Given the description of an element on the screen output the (x, y) to click on. 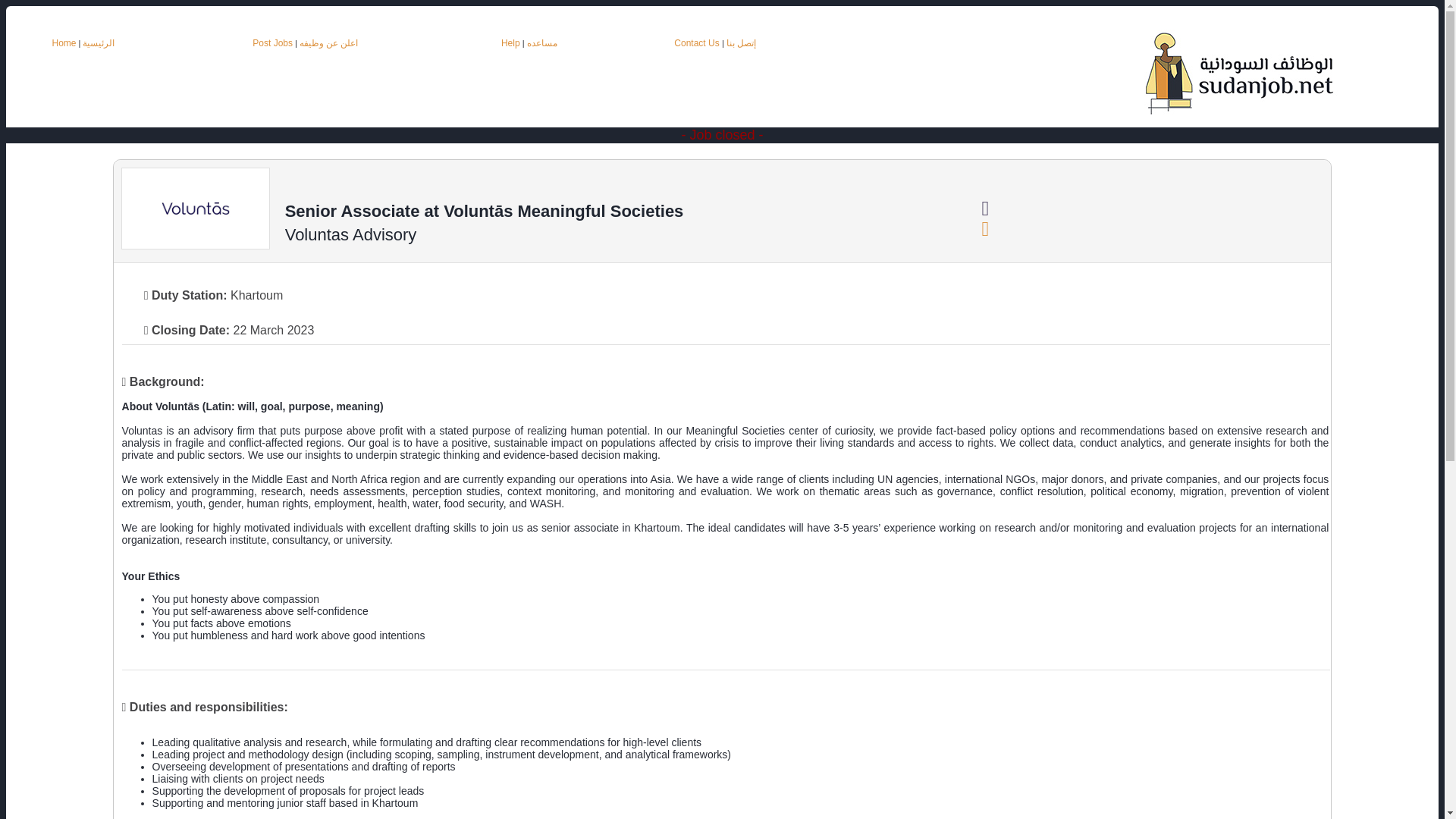
Help (509, 42)
Contact Us (698, 42)
Post Jobs (271, 42)
Home (62, 42)
